Given the description of an element on the screen output the (x, y) to click on. 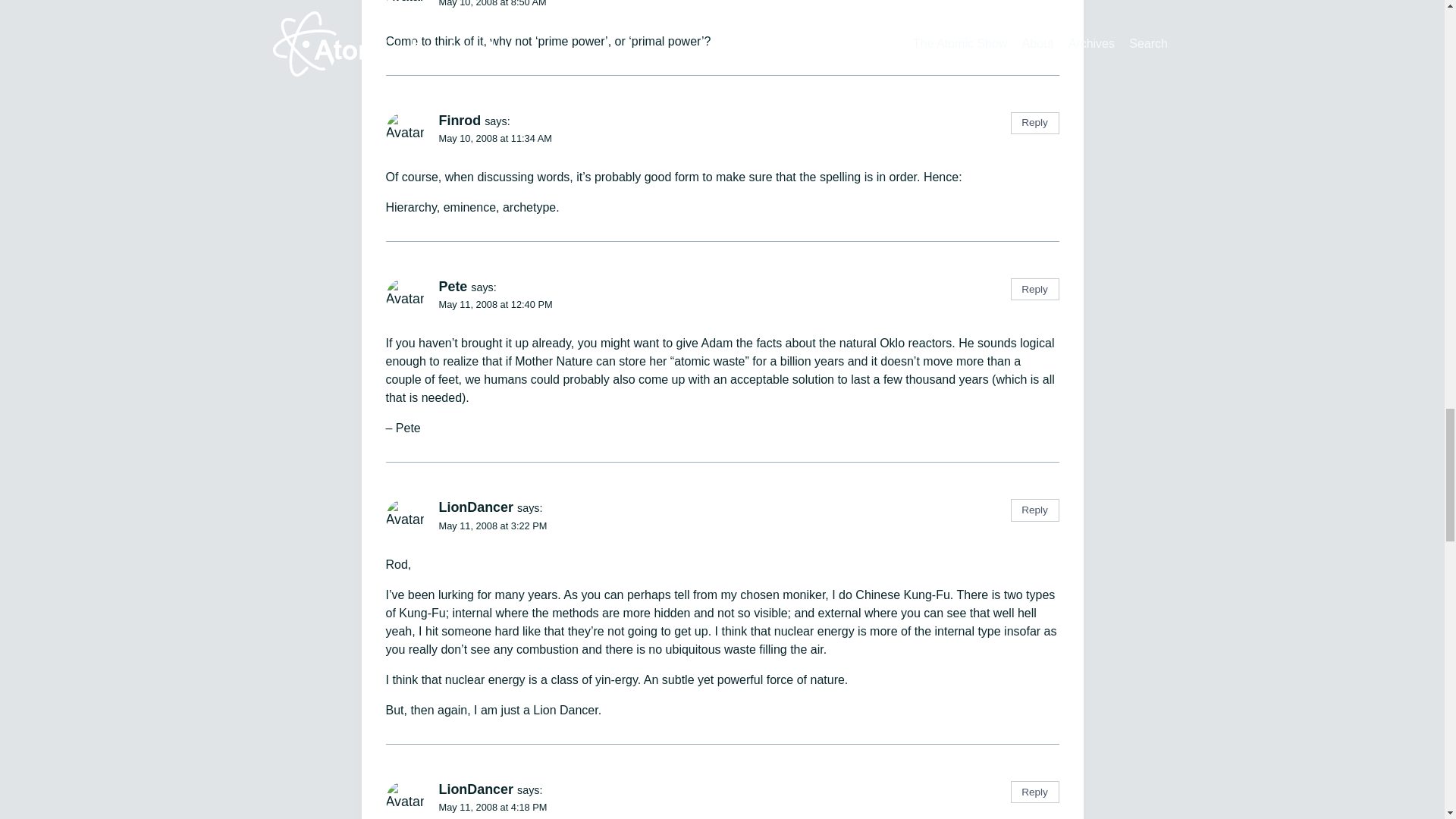
May 11, 2008 at 12:40 PM (494, 304)
Reply (1034, 509)
Reply (1034, 123)
May 11, 2008 at 3:22 PM (492, 525)
May 10, 2008 at 11:34 AM (494, 138)
May 10, 2008 at 8:50 AM (492, 3)
Reply (1034, 792)
Reply (1034, 289)
May 11, 2008 at 4:18 PM (492, 807)
